Given the description of an element on the screen output the (x, y) to click on. 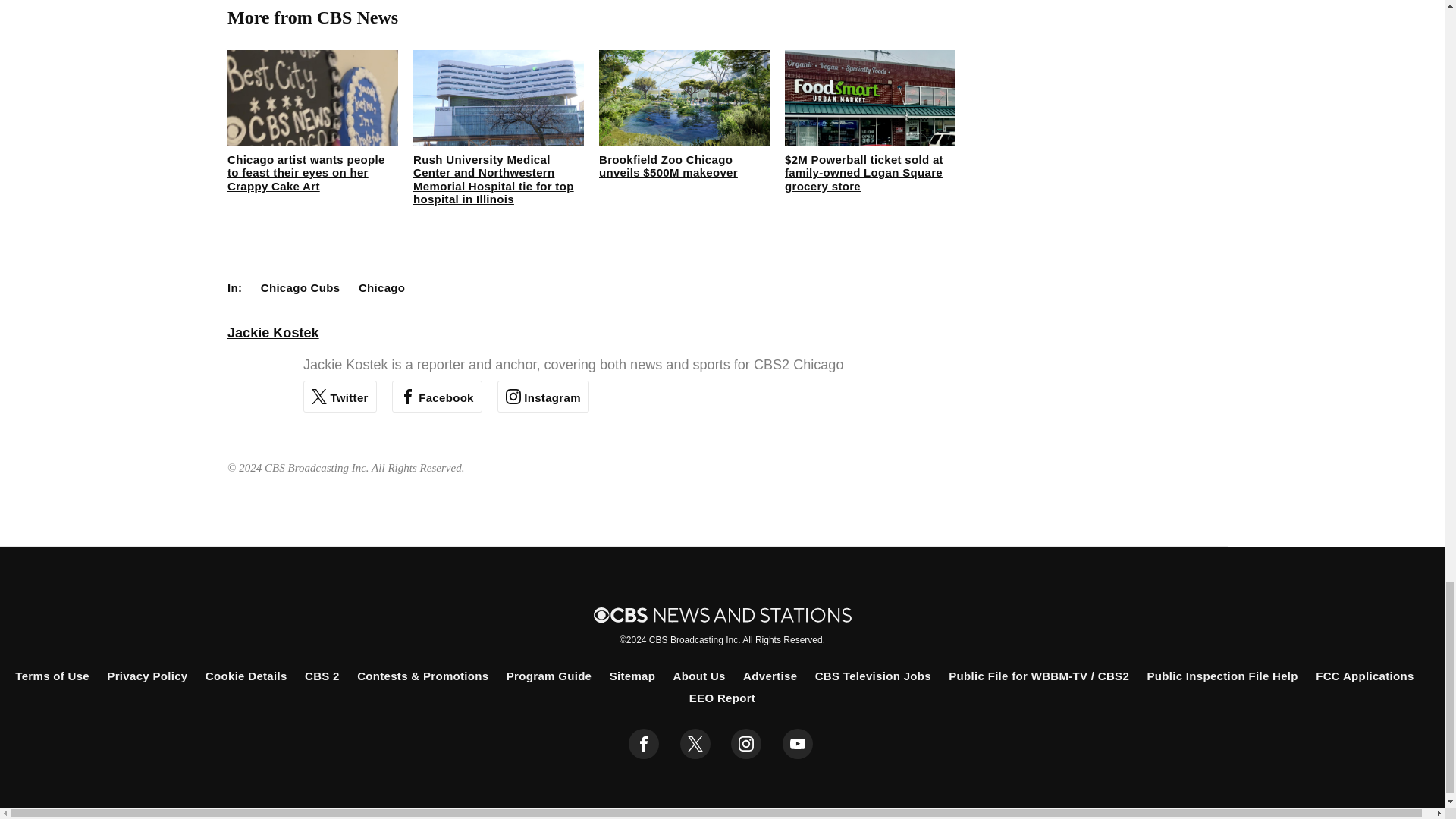
twitter (694, 743)
instagram (745, 743)
facebook (643, 743)
youtube (797, 743)
